Given the description of an element on the screen output the (x, y) to click on. 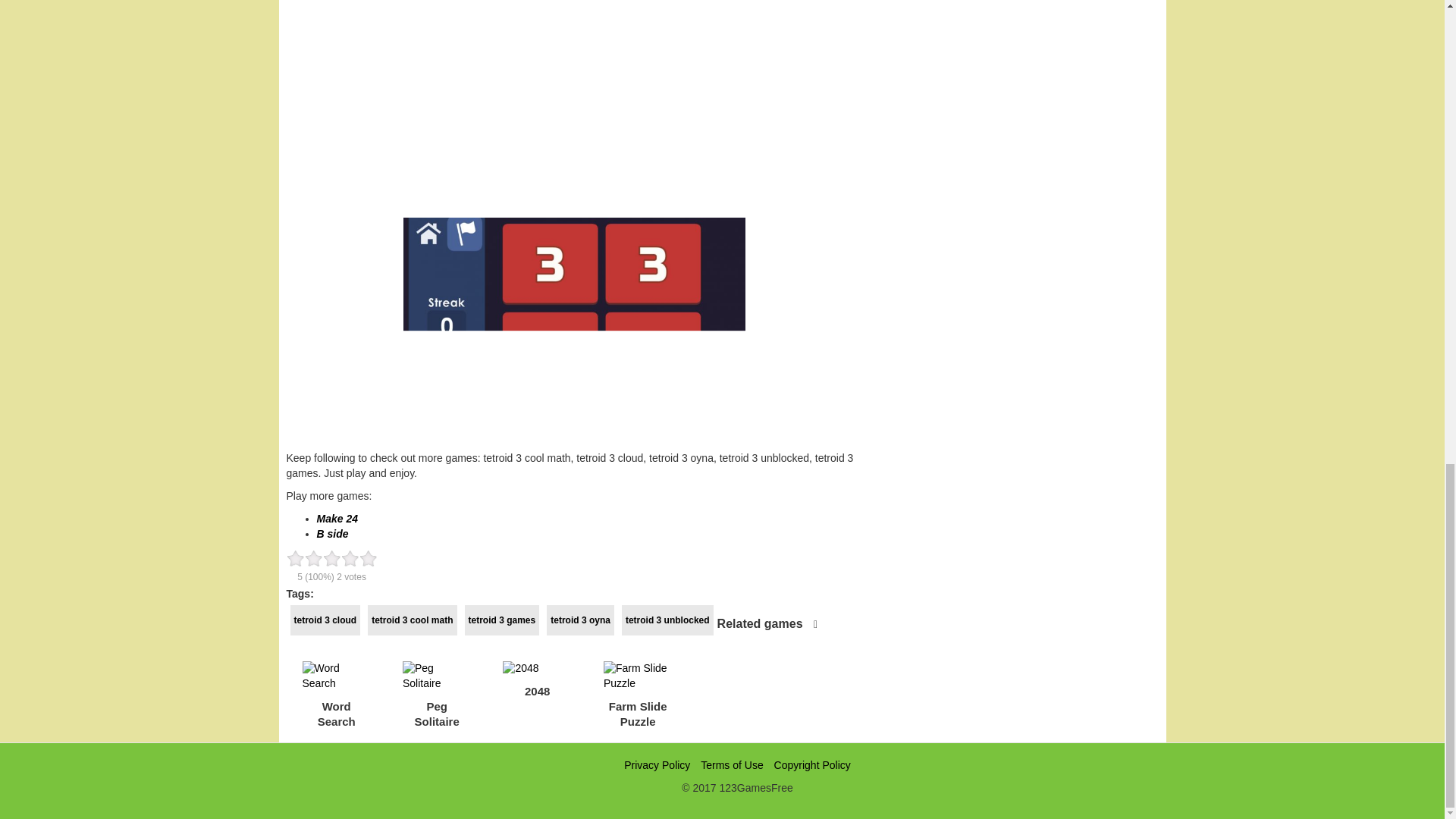
Copyright Policy (812, 765)
tetroid 3 cool math (412, 620)
B side (333, 533)
Privacy Policy (657, 765)
Make 24 (337, 518)
tetroid 3 unblocked (667, 620)
tetroid 3 cloud (324, 620)
Terms of Use (731, 765)
tetroid 3 oyna (580, 620)
tetroid 3 games (502, 620)
Word Search (336, 691)
